Given the description of an element on the screen output the (x, y) to click on. 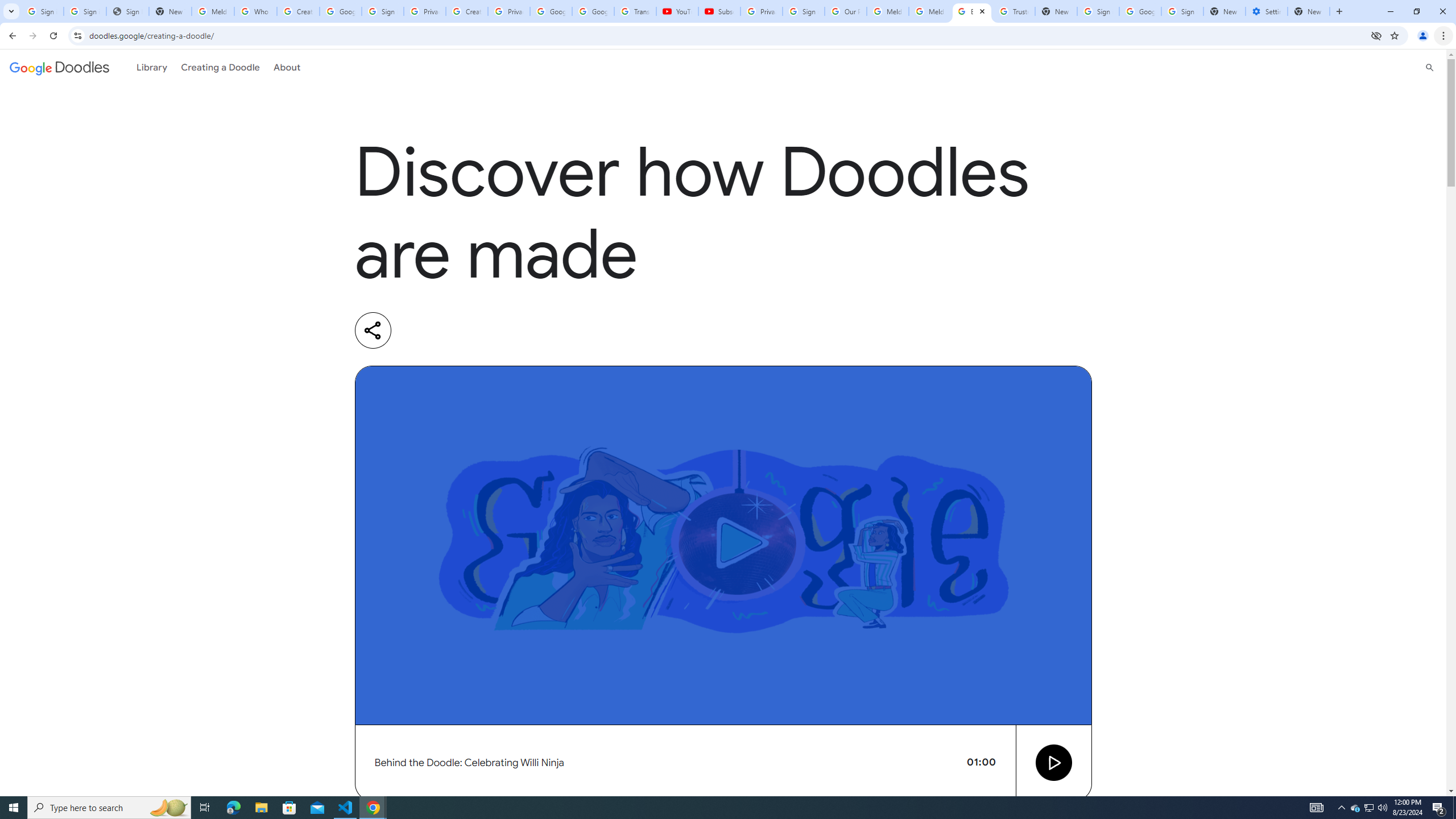
Creating a Doodle (220, 67)
Share on facebook (512, 330)
New Tab (1224, 11)
About (286, 67)
YouTube (676, 11)
Create your Google Account (467, 11)
Share on Linkedin (419, 330)
Sign In - USA TODAY (127, 11)
Google Account (592, 11)
